Given the description of an element on the screen output the (x, y) to click on. 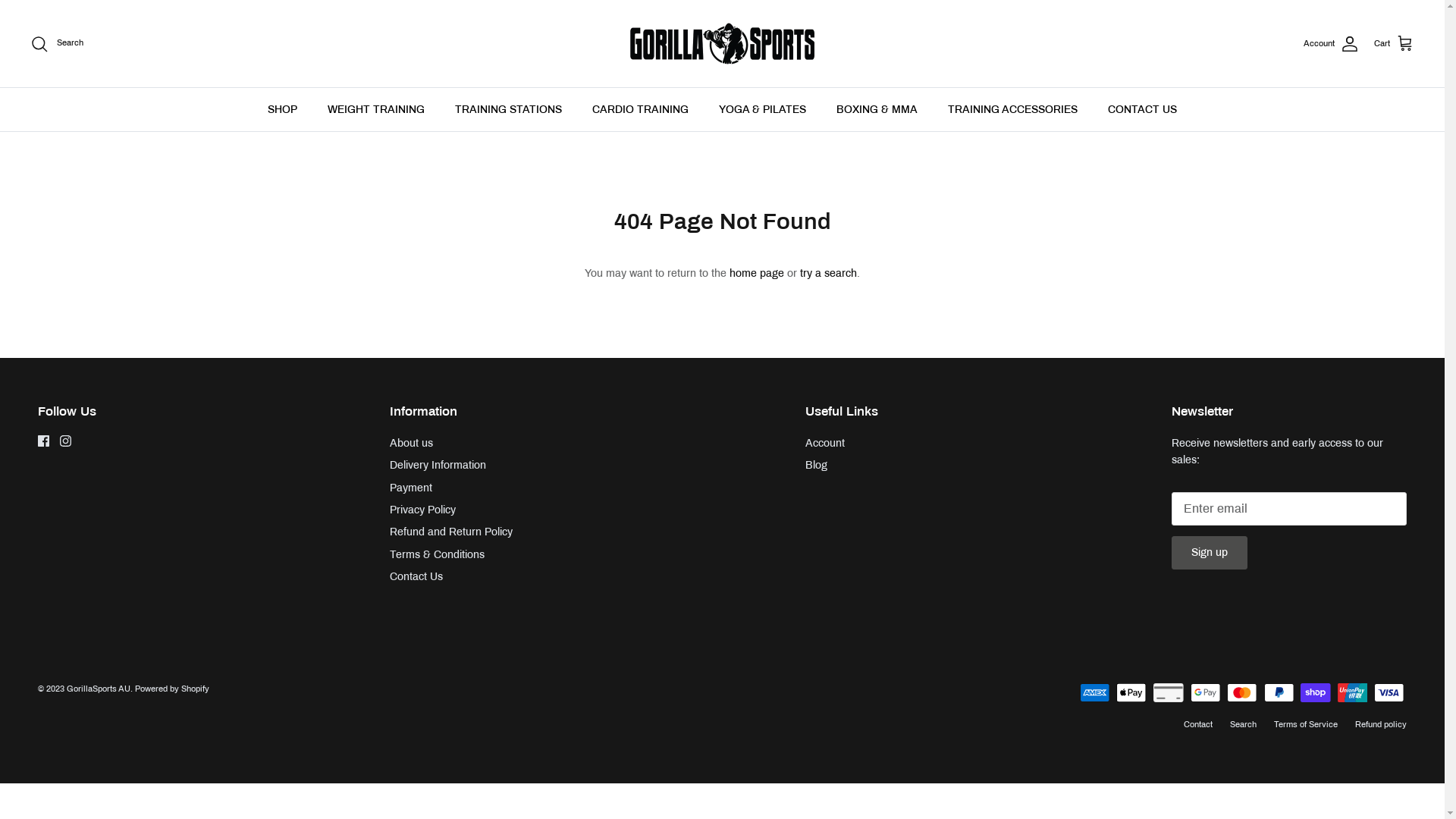
Powered by Shopify Element type: text (171, 688)
Blog Element type: text (816, 464)
CARDIO TRAINING Element type: text (640, 109)
About us Element type: text (411, 442)
CONTACT US Element type: text (1142, 109)
Refund policy Element type: text (1380, 723)
Search Element type: text (1243, 723)
SHOP Element type: text (282, 109)
Delivery Information Element type: text (437, 464)
TRAINING ACCESSORIES Element type: text (1012, 109)
GorillaSports AU Element type: hover (722, 43)
Account Element type: text (824, 442)
Contact Us Element type: text (415, 576)
try a search Element type: text (828, 273)
Payment Element type: text (410, 487)
Instagram Element type: text (65, 440)
BOXING & MMA Element type: text (876, 109)
TRAINING STATIONS Element type: text (508, 109)
Facebook Element type: text (43, 440)
Terms of Service Element type: text (1305, 723)
Terms & Conditions Element type: text (436, 554)
YOGA & PILATES Element type: text (762, 109)
Cart Element type: text (1394, 43)
Search Element type: text (56, 43)
home page Element type: text (756, 273)
Account Element type: text (1330, 43)
WEIGHT TRAINING Element type: text (375, 109)
Sign up Element type: text (1209, 552)
Privacy Policy Element type: text (422, 509)
Refund and Return Policy Element type: text (450, 531)
GorillaSports AU Element type: text (98, 688)
Contact Element type: text (1197, 723)
